Given the description of an element on the screen output the (x, y) to click on. 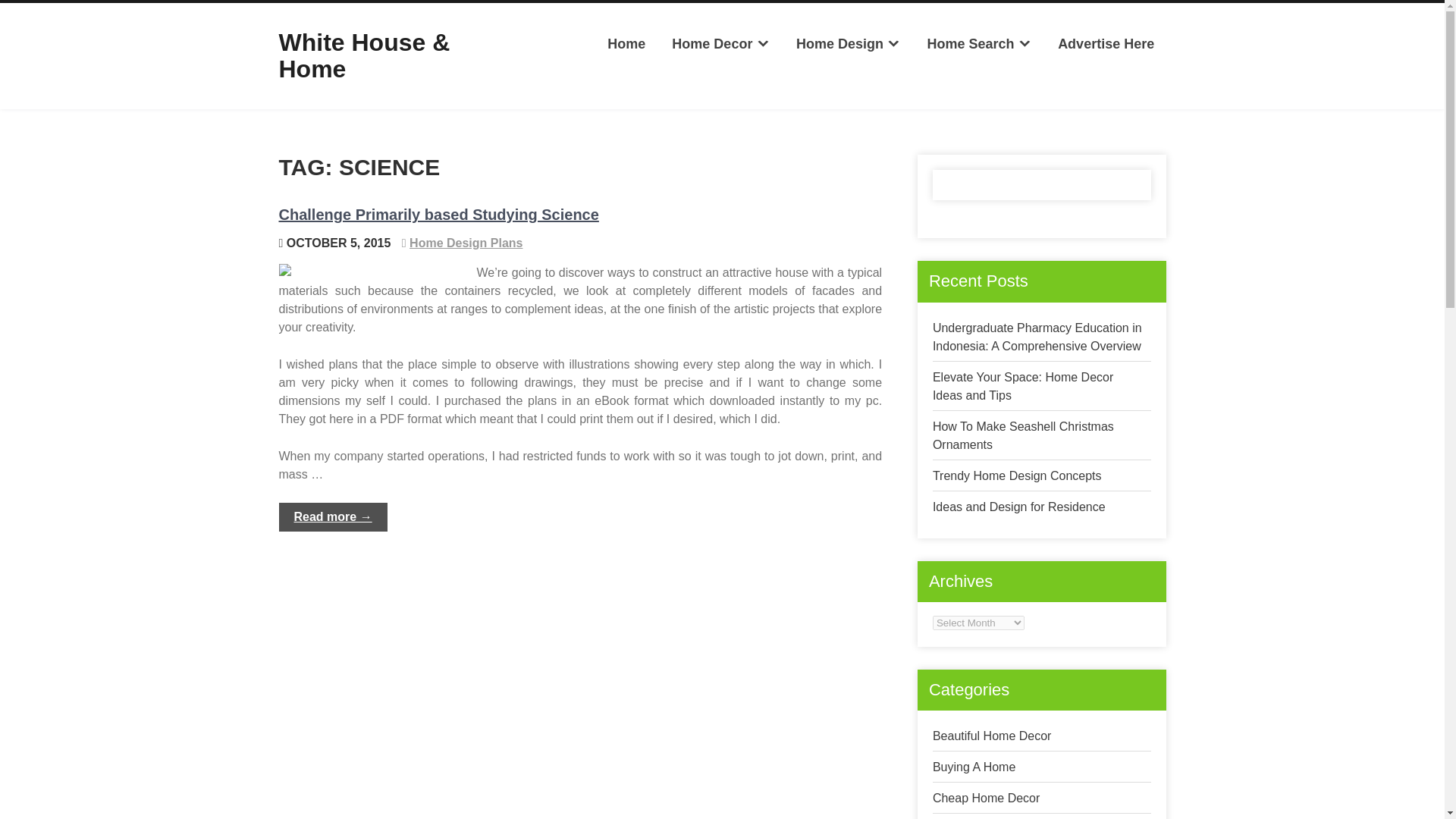
Cheap Home Decor (986, 797)
Ideas and Design for Residence (1019, 506)
Trendy Home Design Concepts (1017, 475)
Advertise Here (1106, 44)
Challenge Primarily based Studying Science (438, 214)
Home Design Plans (465, 242)
Home Design (848, 44)
Home Search (978, 44)
Home (626, 44)
